Given the description of an element on the screen output the (x, y) to click on. 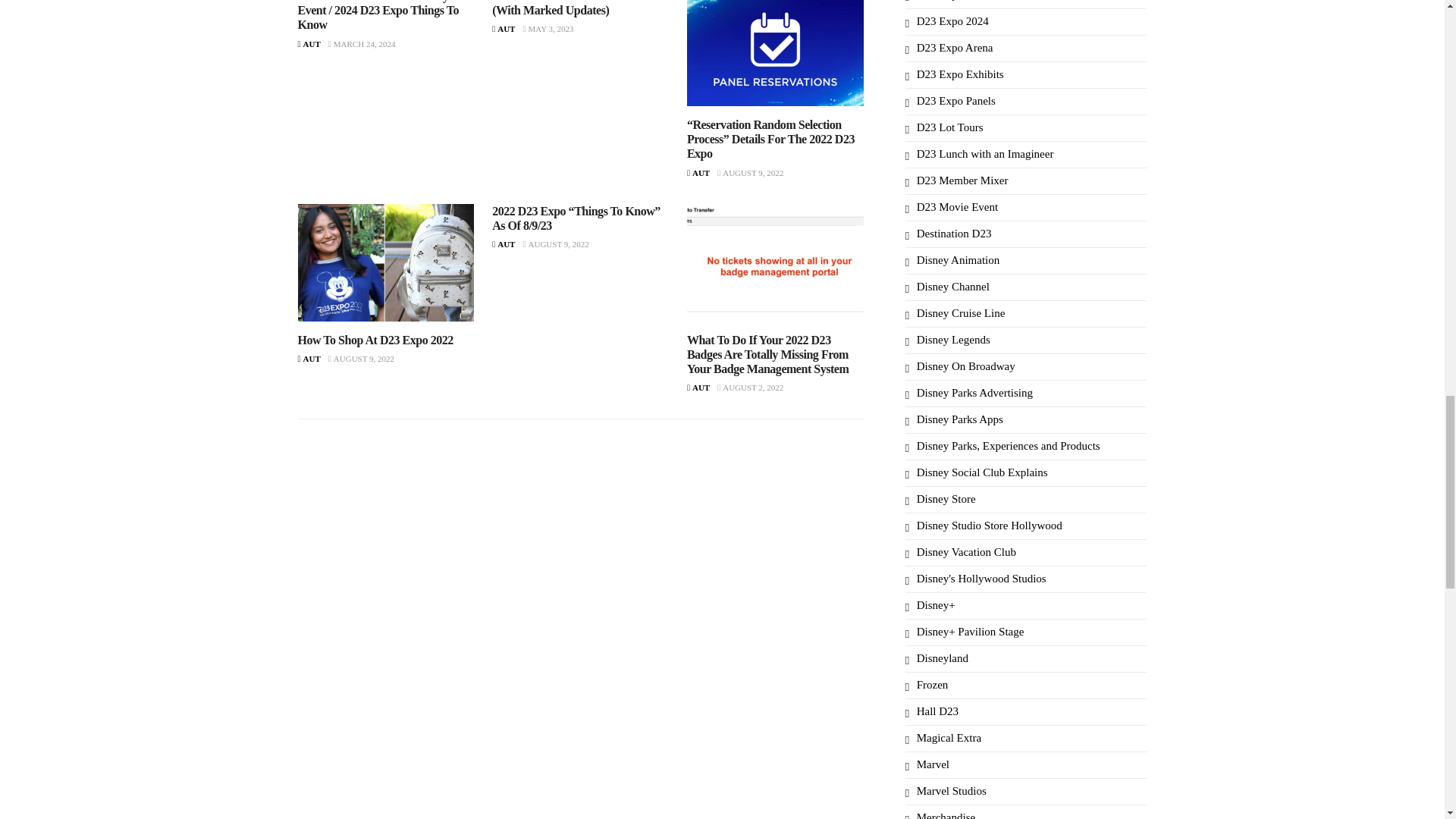
AUT (503, 243)
How To Shop At D23 Expo 2022 (374, 339)
AUT (698, 172)
AUT (503, 28)
AUT (308, 43)
How to Shop at D23 Expo 2022 (385, 262)
AUT (308, 358)
